Given the description of an element on the screen output the (x, y) to click on. 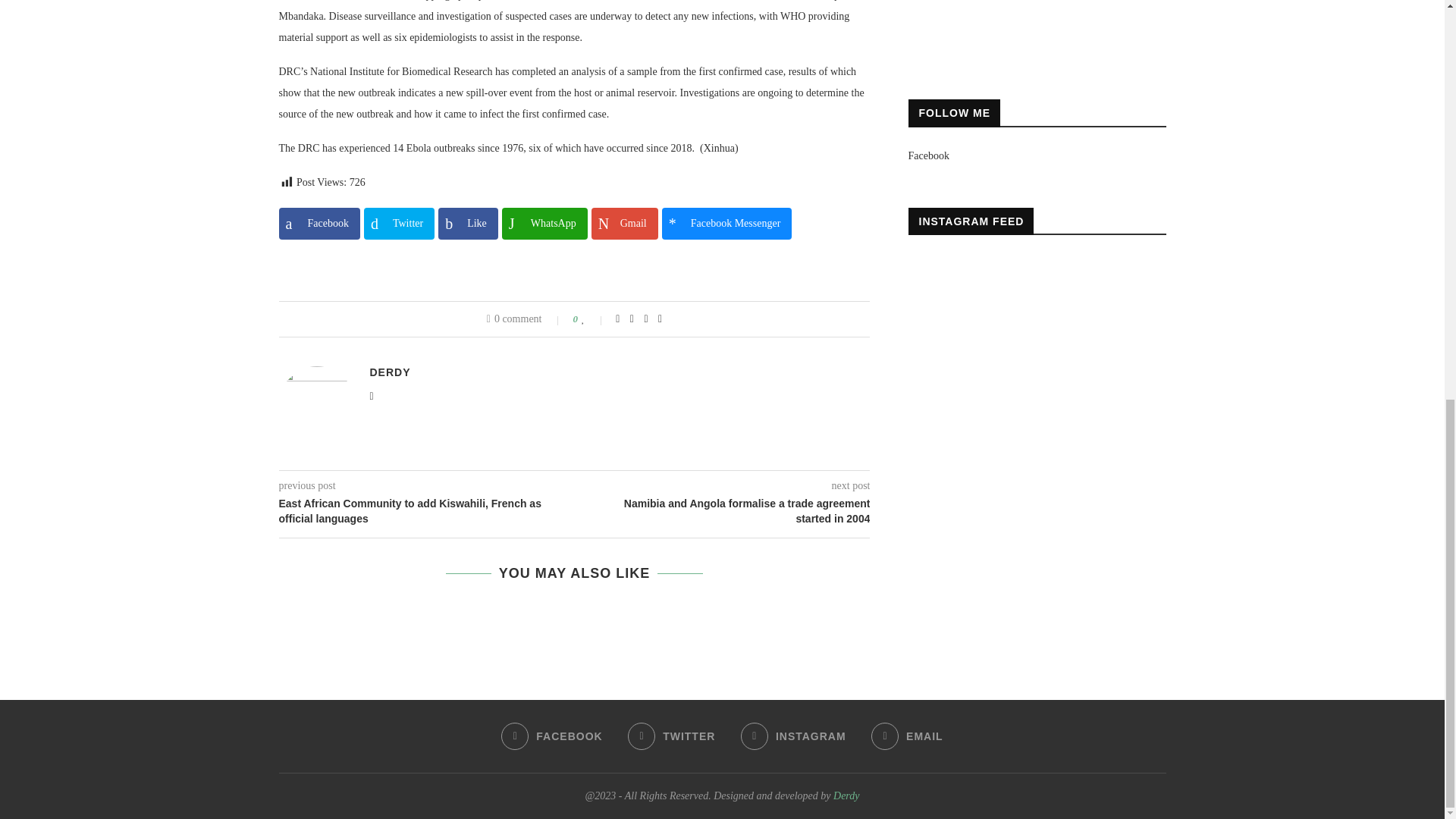
Share on Facebook Messenger (727, 223)
Share on Twitter (398, 223)
Share on Gmail (624, 223)
Share on Facebook (319, 223)
Share on WhatsApp (545, 223)
Share on Like (467, 223)
